Given the description of an element on the screen output the (x, y) to click on. 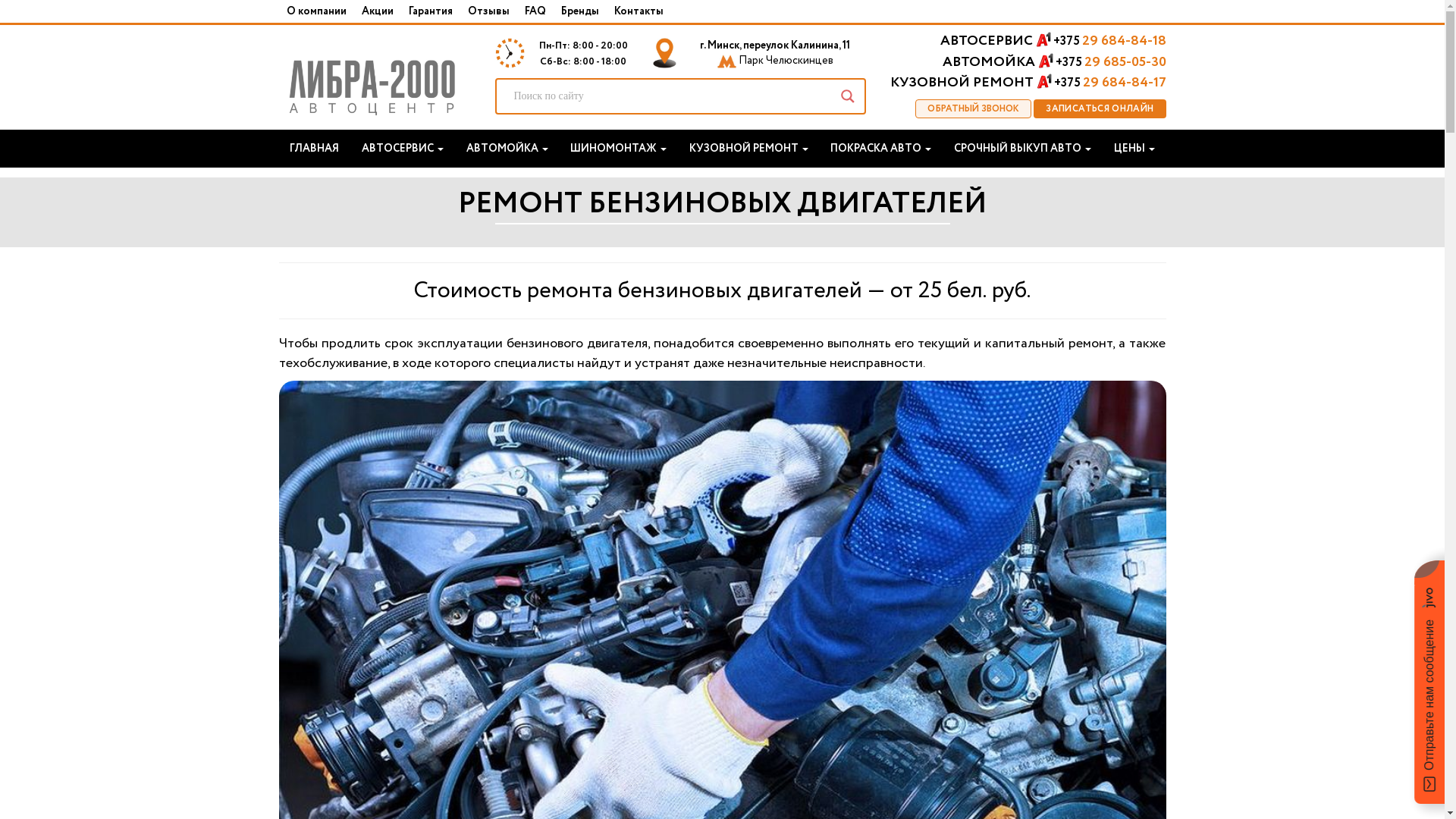
+375 29 685-05-30 Element type: text (1110, 62)
+375 29 684-84-17 Element type: text (1110, 82)
+375 29 684-84-18 Element type: text (1108, 41)
FAQ Element type: text (535, 11)
